Given the description of an element on the screen output the (x, y) to click on. 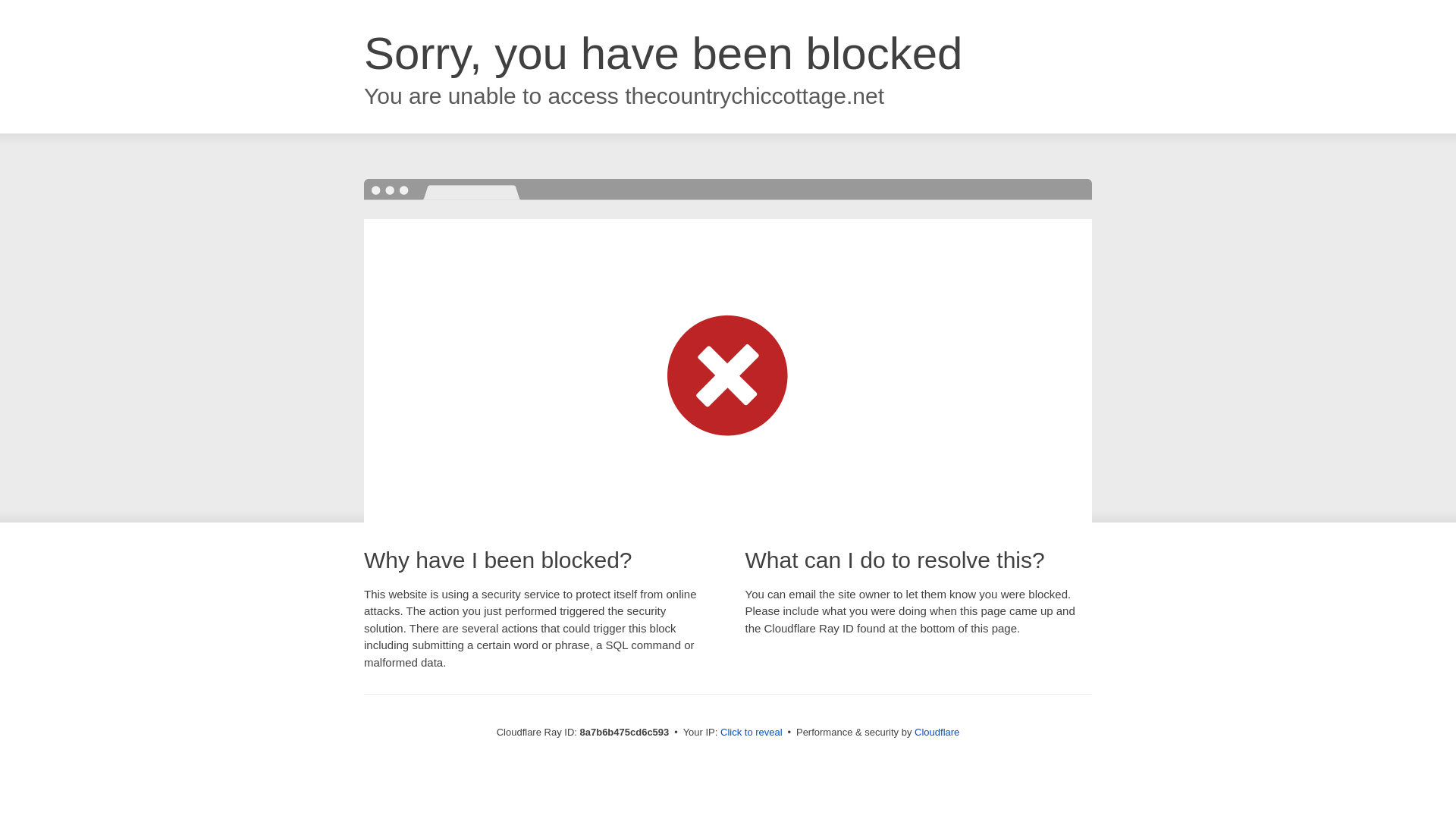
Cloudflare (936, 731)
Click to reveal (751, 732)
